Given the description of an element on the screen output the (x, y) to click on. 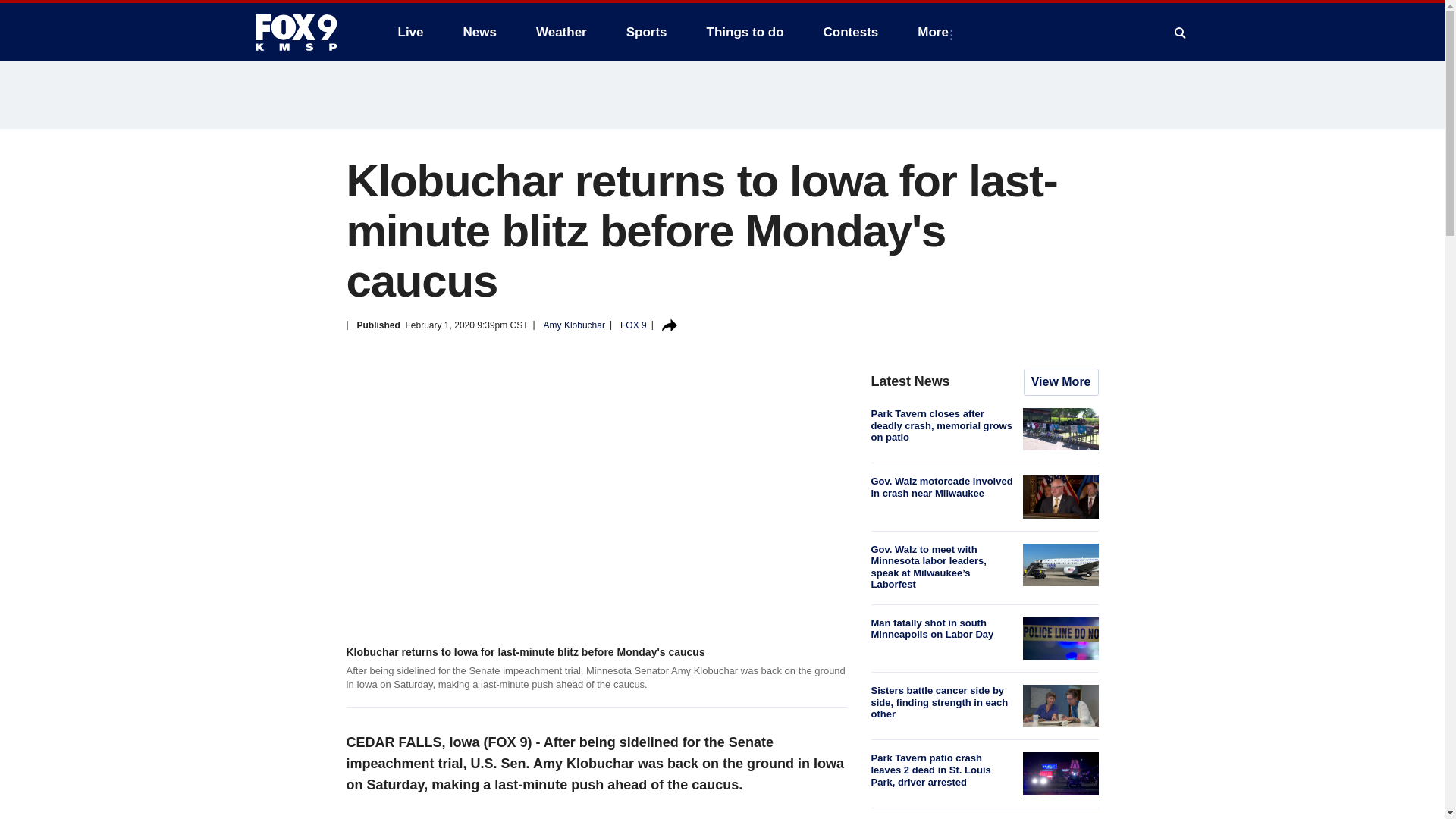
Sports (646, 32)
Weather (561, 32)
Live (410, 32)
News (479, 32)
More (935, 32)
Contests (850, 32)
Things to do (745, 32)
